Given the description of an element on the screen output the (x, y) to click on. 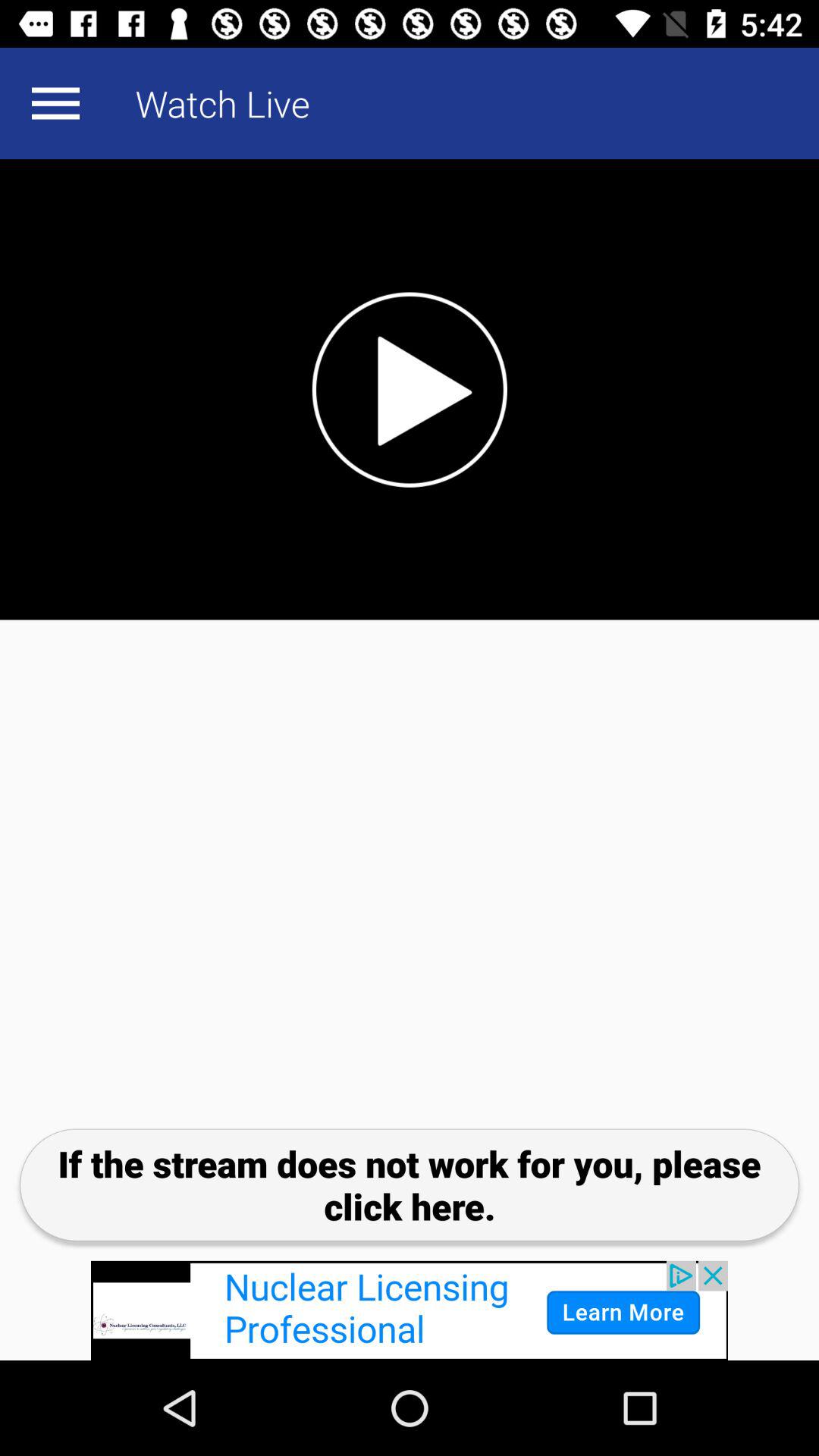
play song (409, 389)
